Given the description of an element on the screen output the (x, y) to click on. 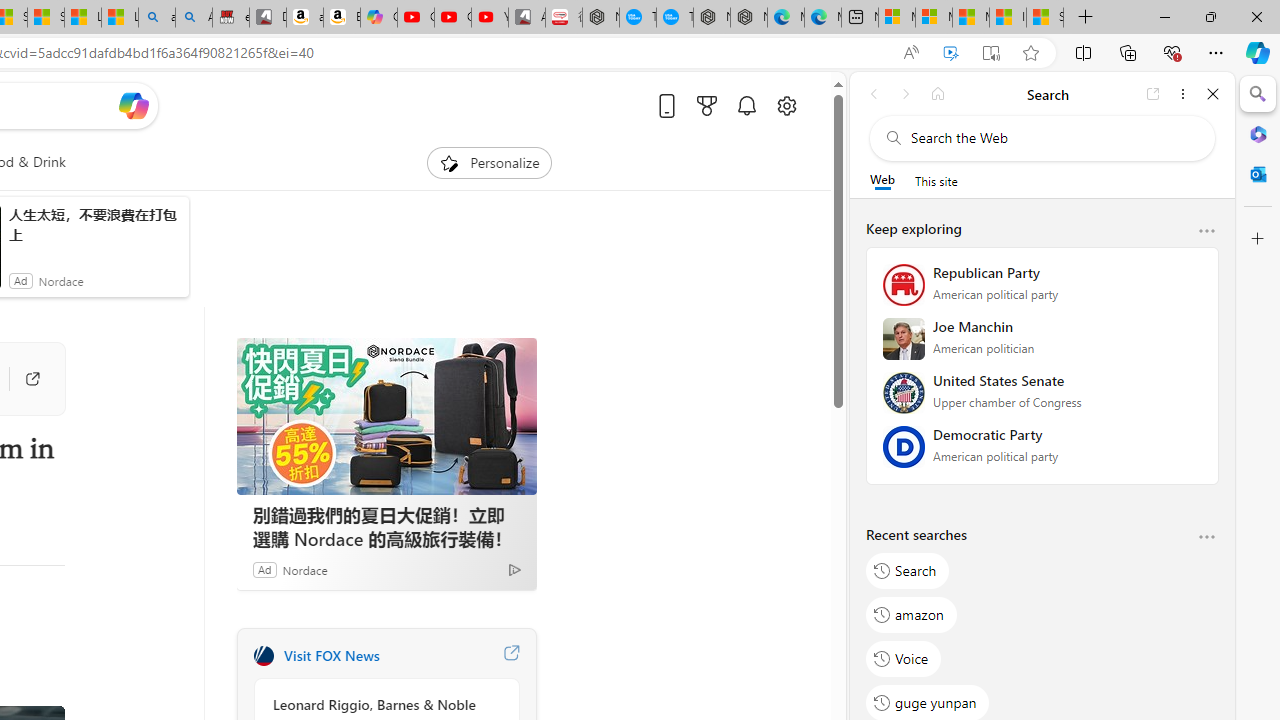
FOX News (263, 655)
Amazon Echo Dot PNG - Search Images (193, 17)
Enter Immersive Reader (F9) (991, 53)
United States Senate Upper chamber of Congress (1042, 399)
